Given the description of an element on the screen output the (x, y) to click on. 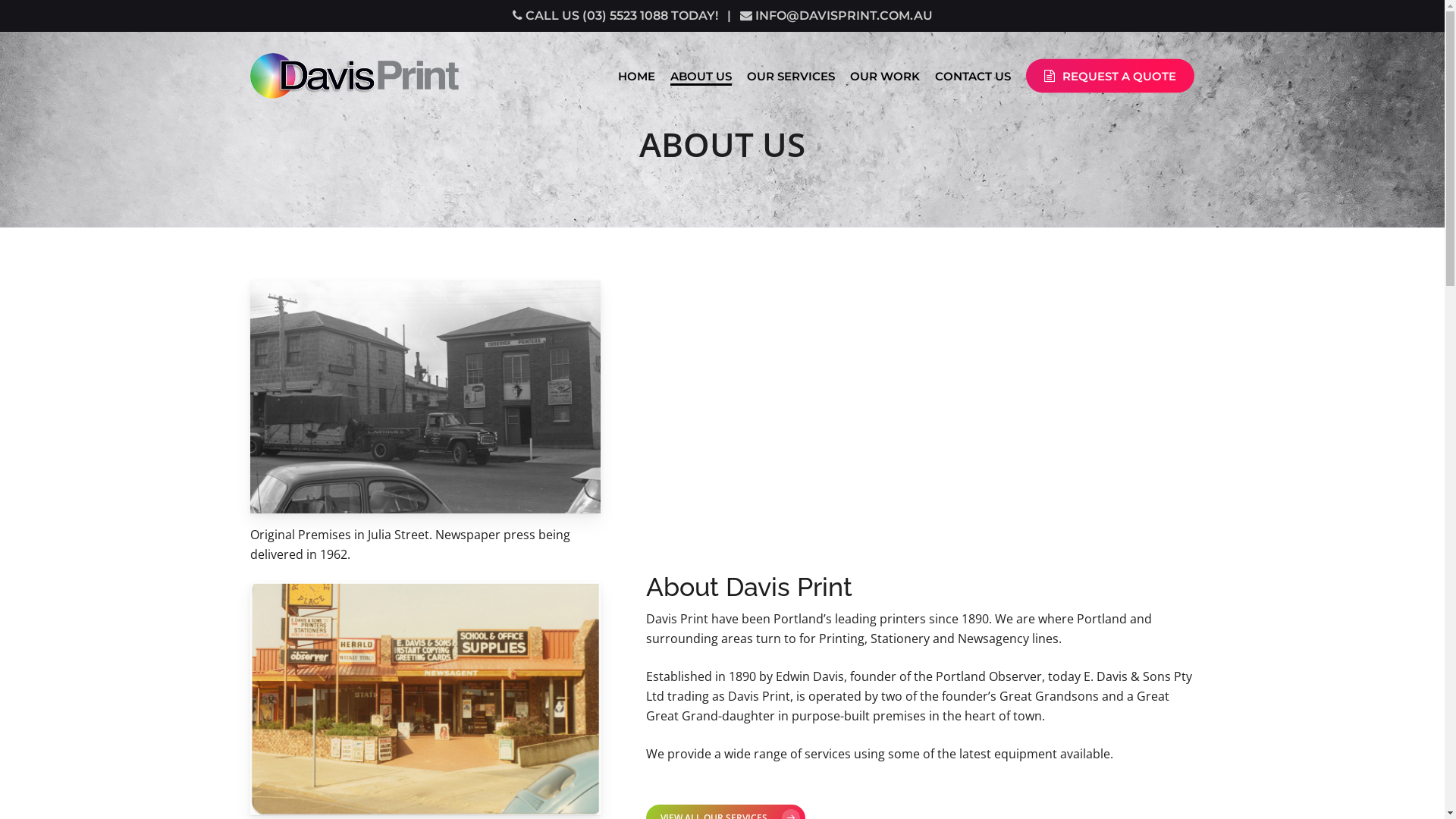
CONTACT US Element type: text (972, 76)
ABOUT US Element type: text (700, 76)
REQUEST A QUOTE Element type: text (1110, 76)
CALL US (03) 5523 1088 TODAY! Element type: text (615, 15)
INFO@DAVISPRINT.COM.AU Element type: text (836, 15)
OUR SERVICES Element type: text (790, 76)
OUR WORK Element type: text (884, 76)
HOME Element type: text (636, 76)
